Given the description of an element on the screen output the (x, y) to click on. 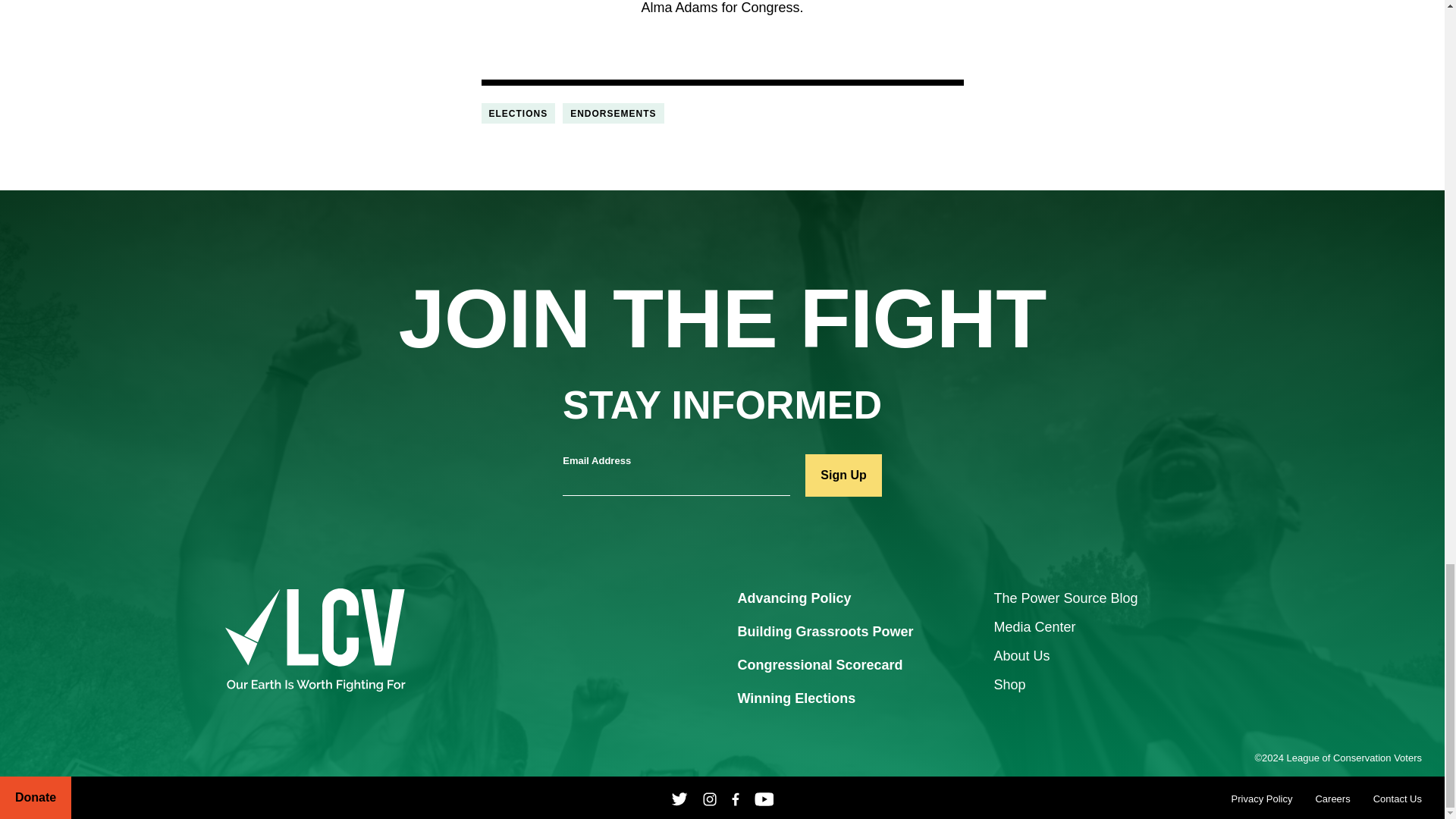
ELECTIONS (517, 113)
Sign Up (842, 475)
YouTube (764, 797)
Instagram (709, 797)
Building Grassroots Power (824, 632)
Advancing Policy (793, 598)
Twitter (679, 797)
Sign Up (842, 475)
ENDORSEMENTS (612, 113)
